Given the description of an element on the screen output the (x, y) to click on. 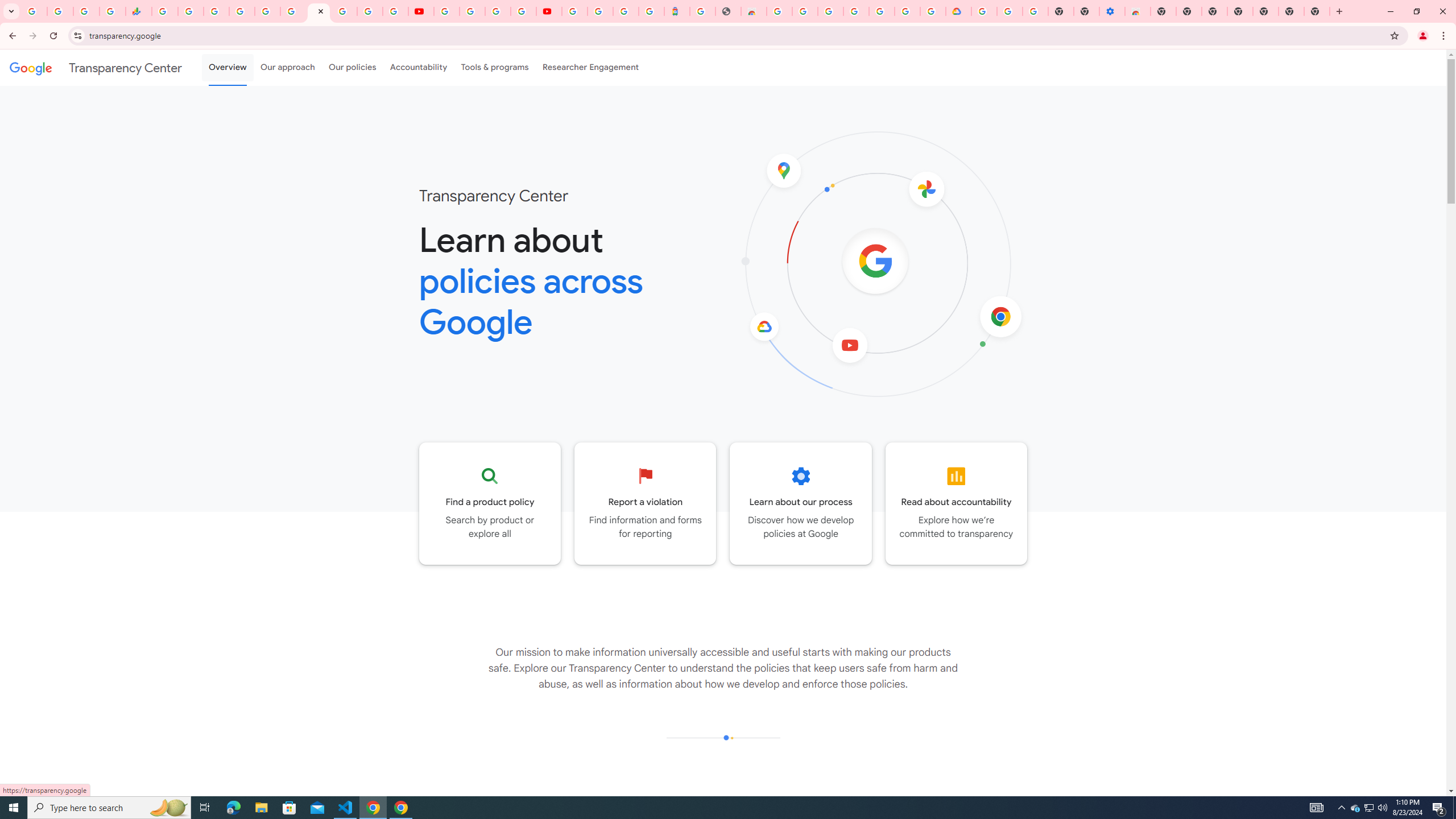
Overview (226, 67)
Chrome Web Store - Accessibility extensions (1137, 11)
Address and search bar (735, 35)
Reload (52, 35)
Ad Settings (804, 11)
Sign in - Google Accounts (600, 11)
Chrome Web Store - Household (753, 11)
Sign in - Google Accounts (907, 11)
